Given the description of an element on the screen output the (x, y) to click on. 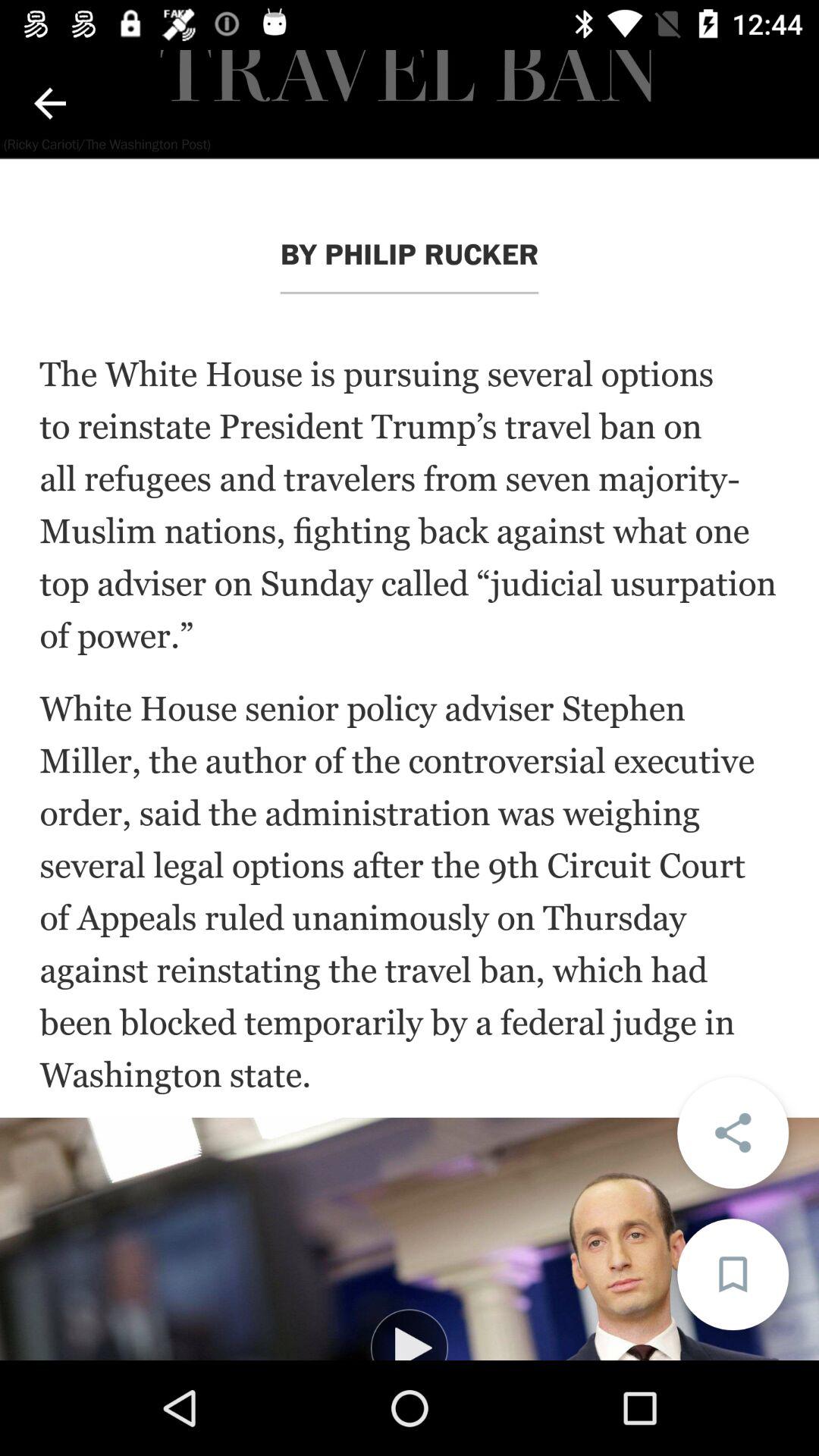
advertisement (409, 1238)
